Given the description of an element on the screen output the (x, y) to click on. 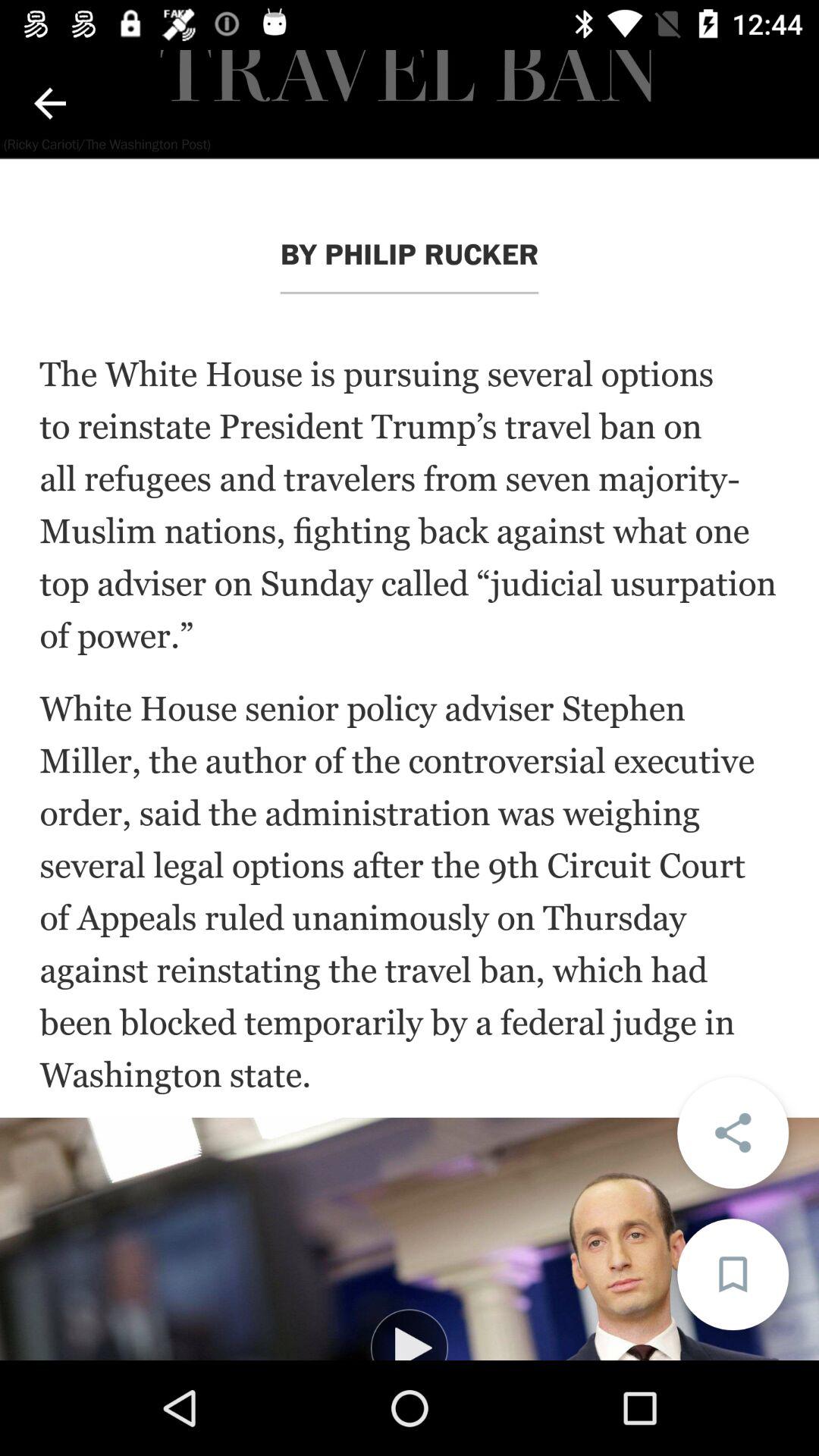
advertisement (409, 1238)
